Given the description of an element on the screen output the (x, y) to click on. 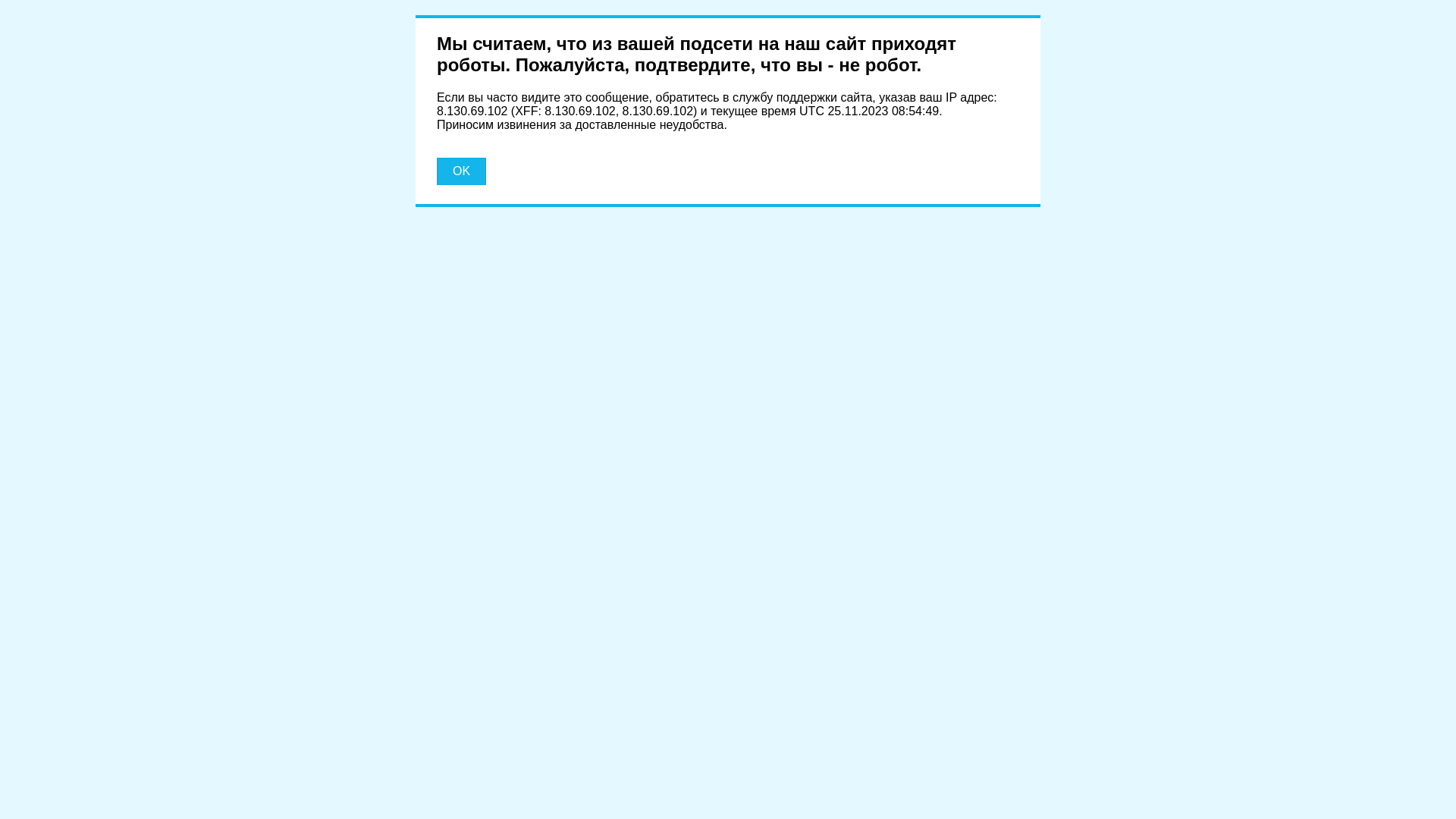
OK Element type: text (461, 171)
